Given the description of an element on the screen output the (x, y) to click on. 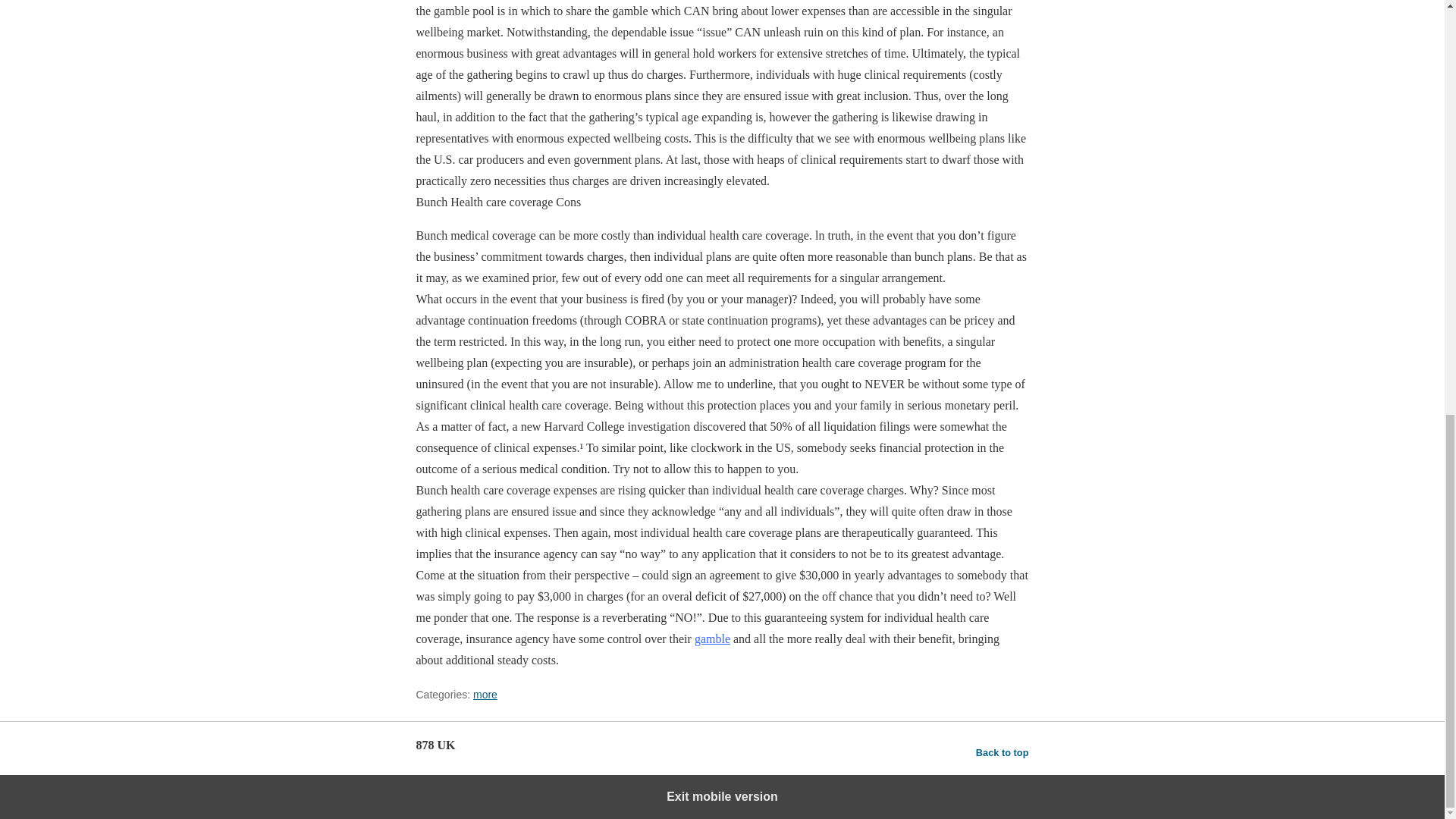
gamble (712, 638)
more (485, 694)
Back to top (1002, 752)
